Given the description of an element on the screen output the (x, y) to click on. 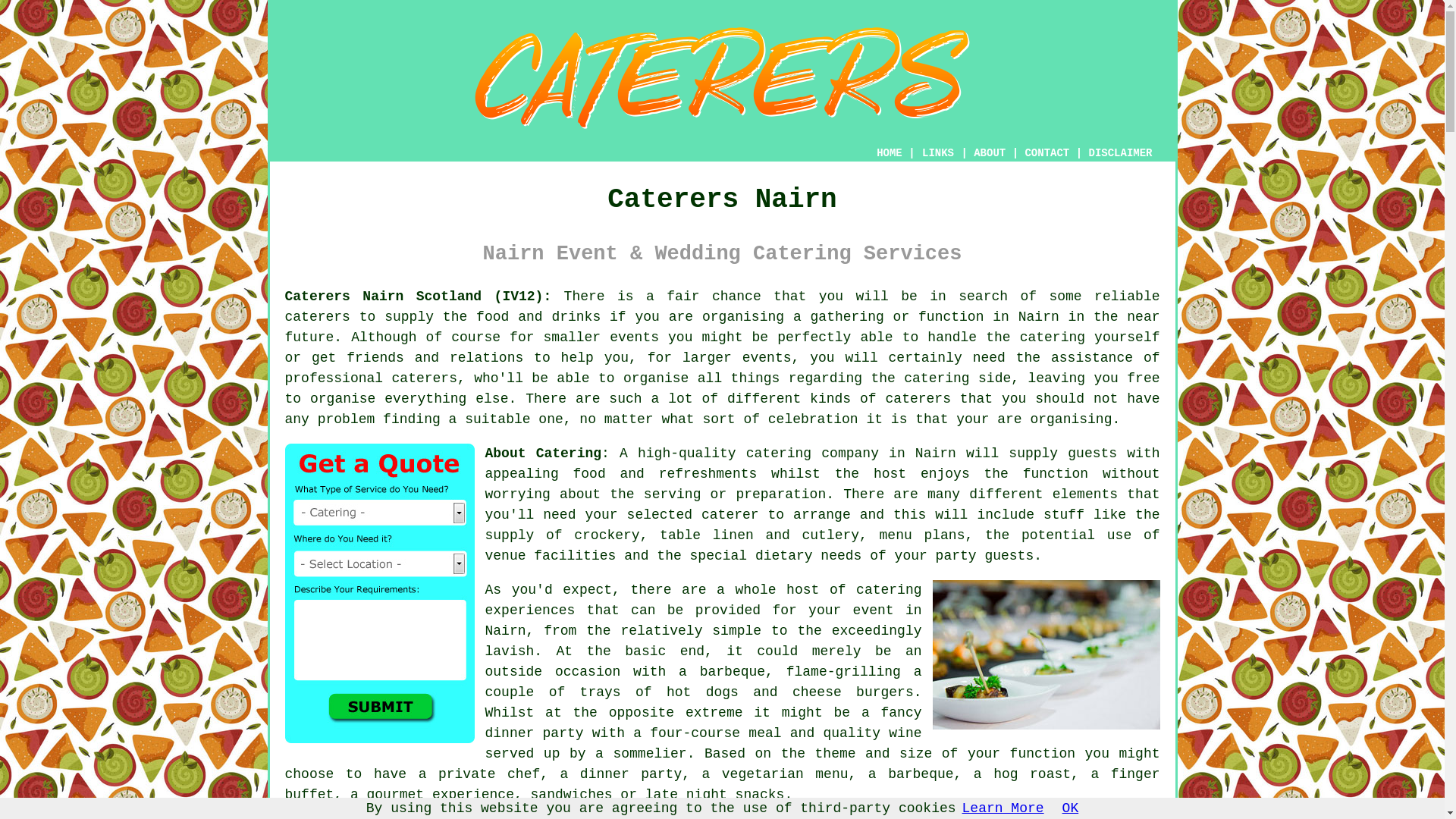
guests (1091, 453)
HOME (889, 152)
Caterers Nairn (721, 78)
host (889, 473)
catering (936, 378)
LINKS (938, 152)
professional caterers (371, 378)
catering experiences (702, 600)
